Given the description of an element on the screen output the (x, y) to click on. 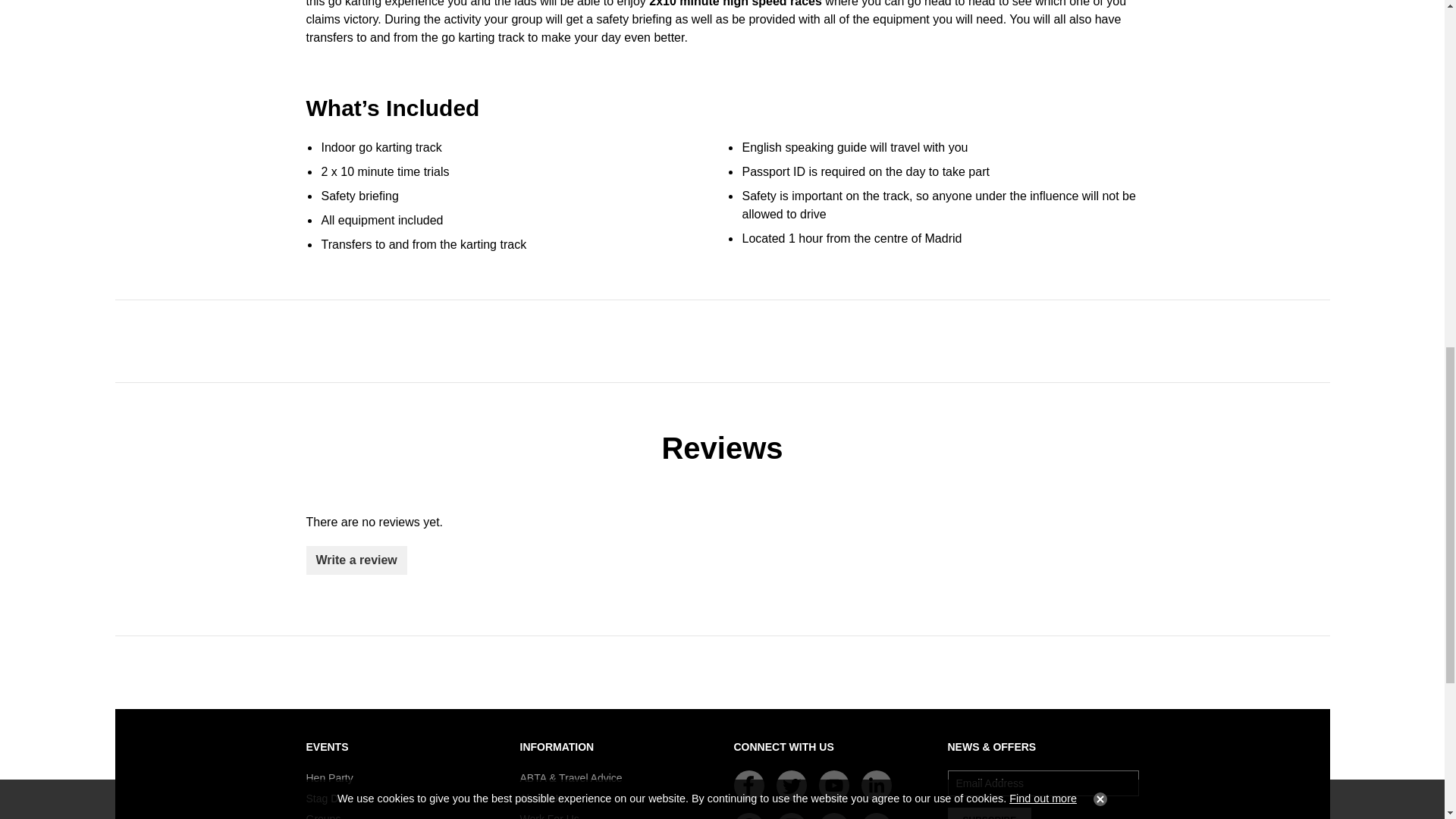
Subscribe (989, 813)
